Given the description of an element on the screen output the (x, y) to click on. 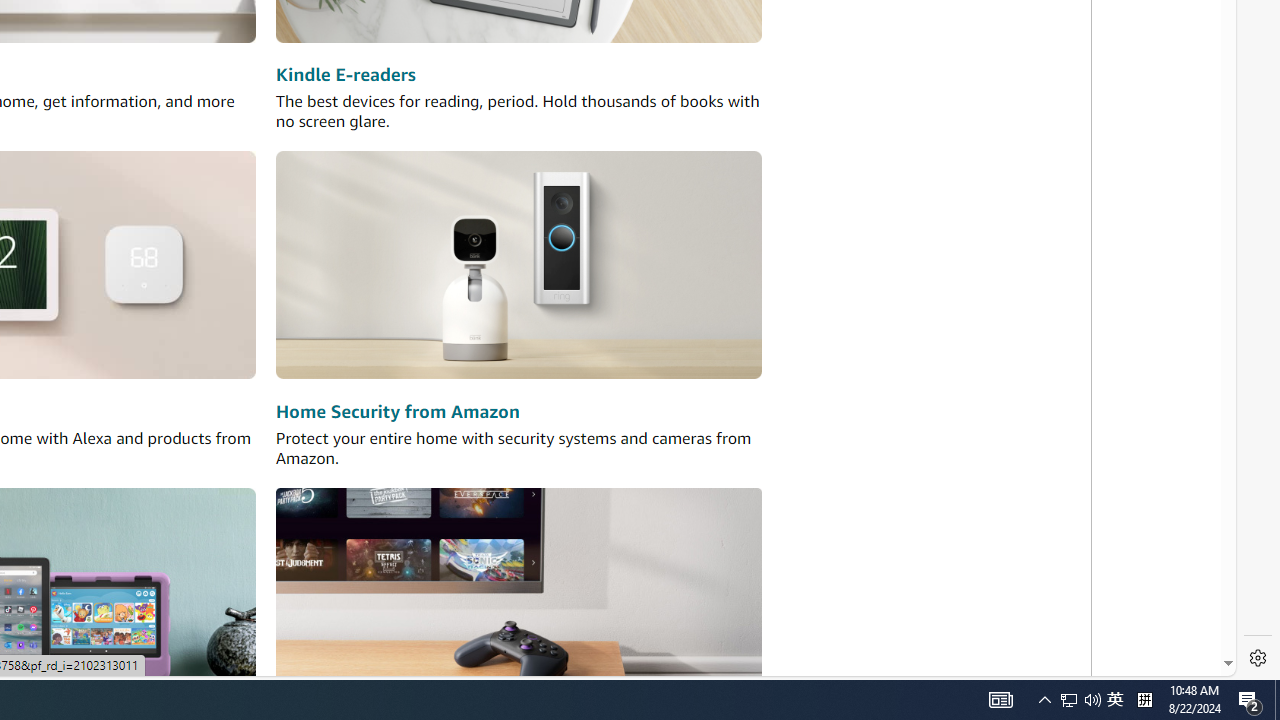
Home Security devices (518, 265)
Amazon Luna (518, 600)
Home Security devices (518, 265)
Amazon Luna (518, 600)
Kindle E-readers (345, 75)
Home Security from Amazon (397, 411)
